Given the description of an element on the screen output the (x, y) to click on. 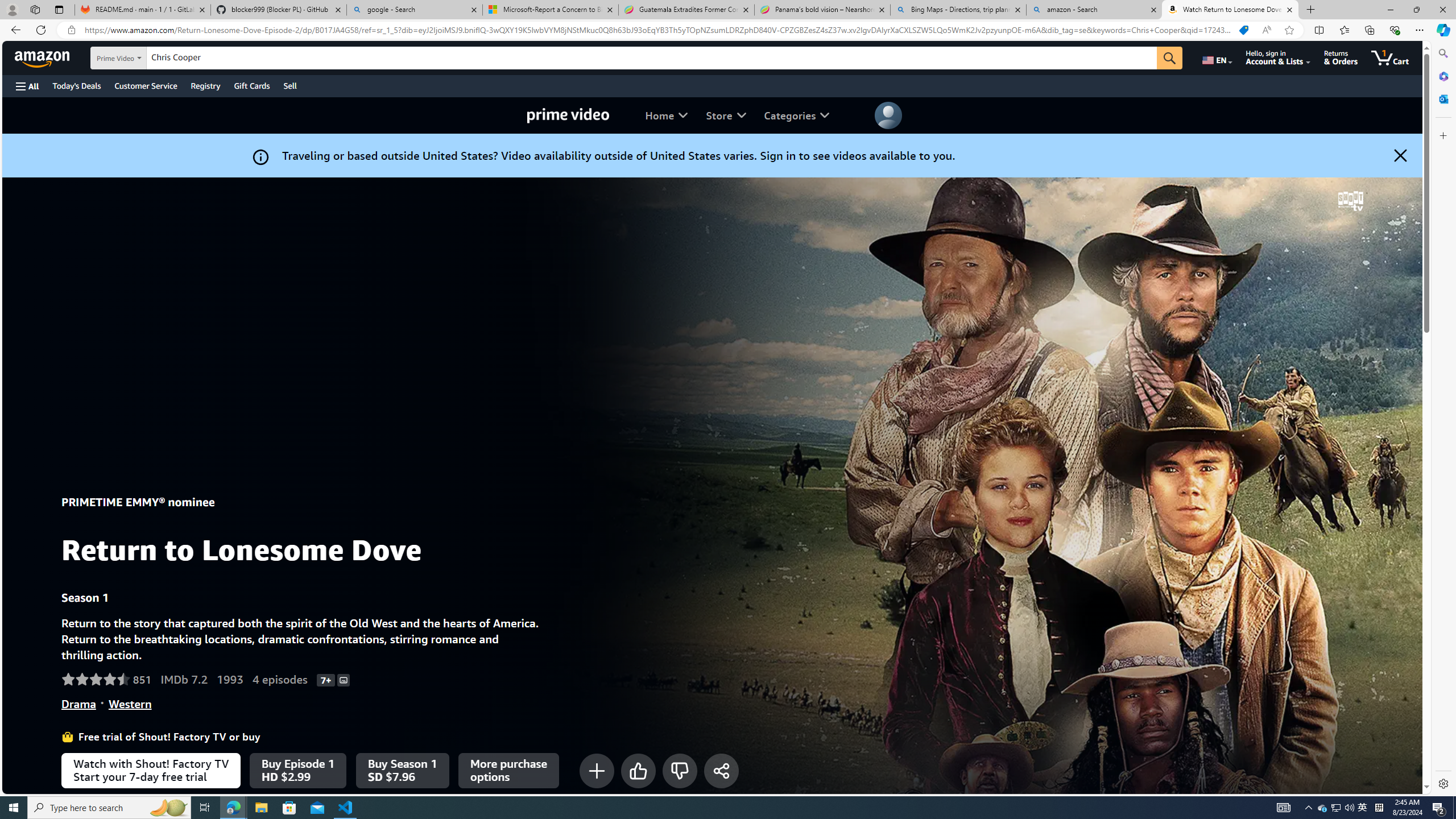
Watch Return to Lonesome Dove Season 1 | Prime Video (1230, 9)
Add to Watchlist (596, 769)
Amazon (43, 57)
Dismiss button (1400, 155)
Buy Episode 1 HD $2.99 (297, 769)
Rated 4.6 out of 5 stars by 851 Amazon customers. (106, 679)
Shopping in Microsoft Edge (1243, 29)
Outlook (1442, 98)
